Given the description of an element on the screen output the (x, y) to click on. 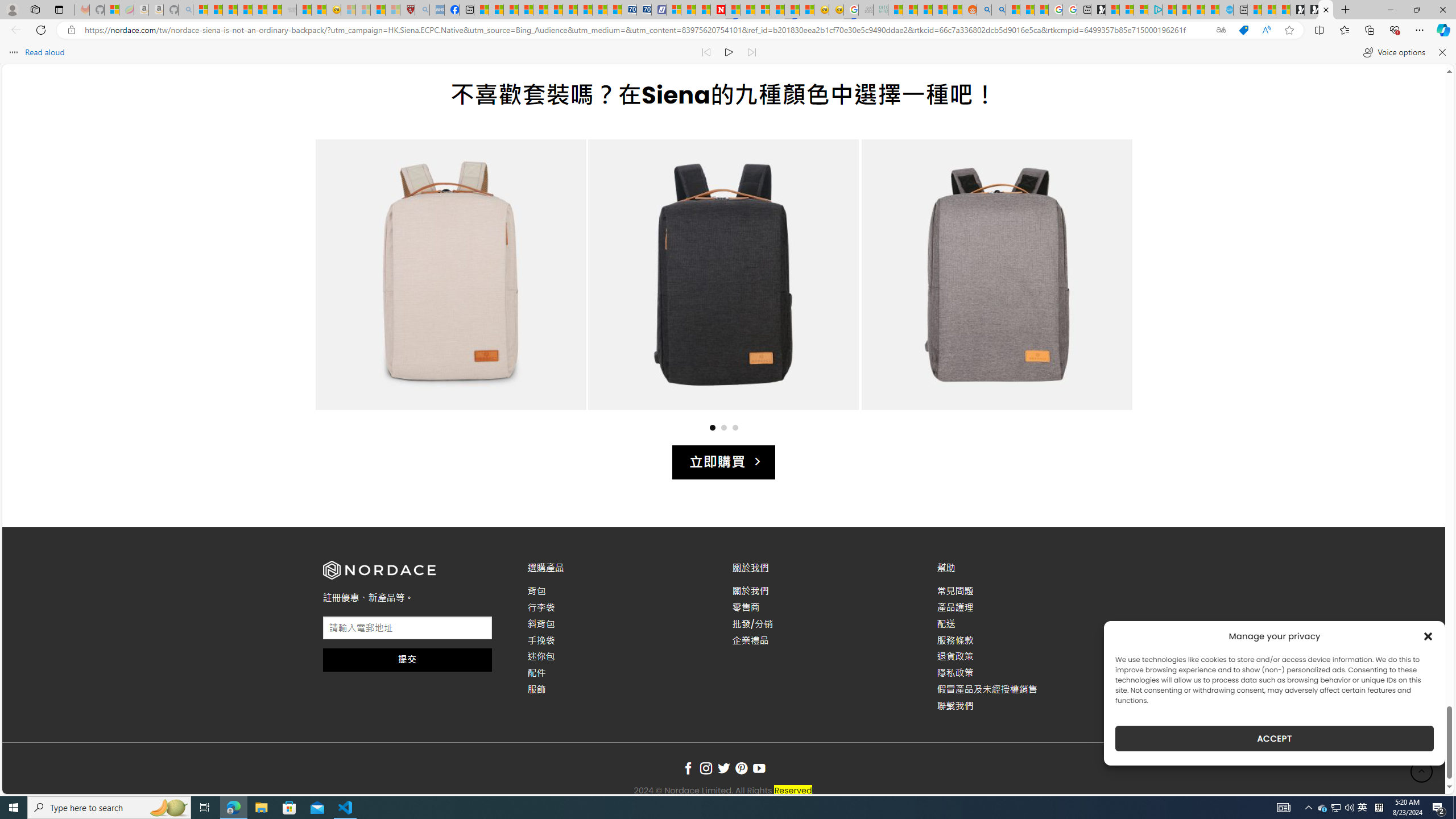
Page dot 2 (723, 427)
New Report Confirms 2023 Was Record Hot | Watch (259, 9)
14 Common Myths Debunked By Scientific Facts (747, 9)
Continue to read aloud (Ctrl+Shift+U) (729, 52)
